Given the description of an element on the screen output the (x, y) to click on. 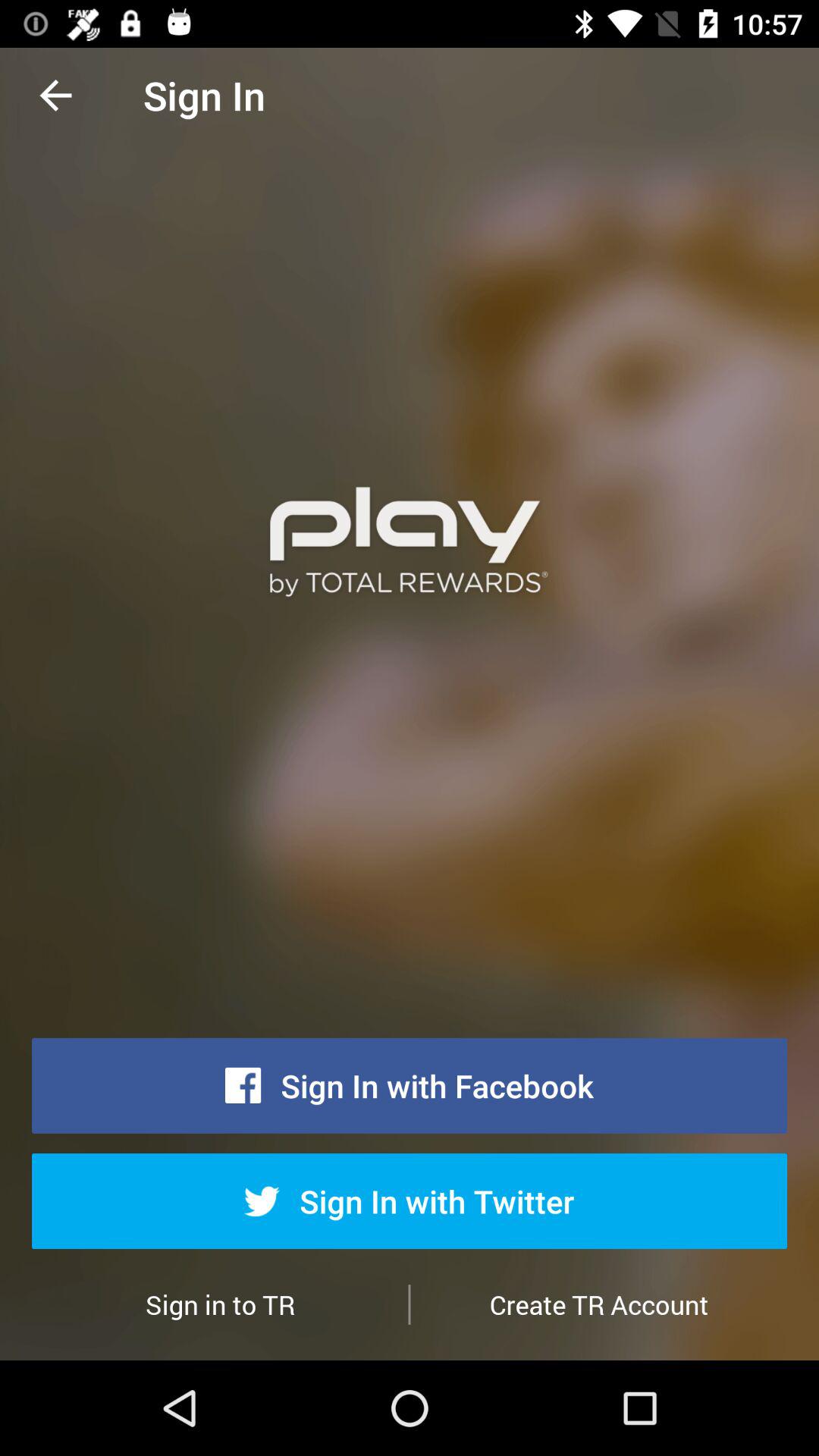
jump until create tr account item (598, 1304)
